Given the description of an element on the screen output the (x, y) to click on. 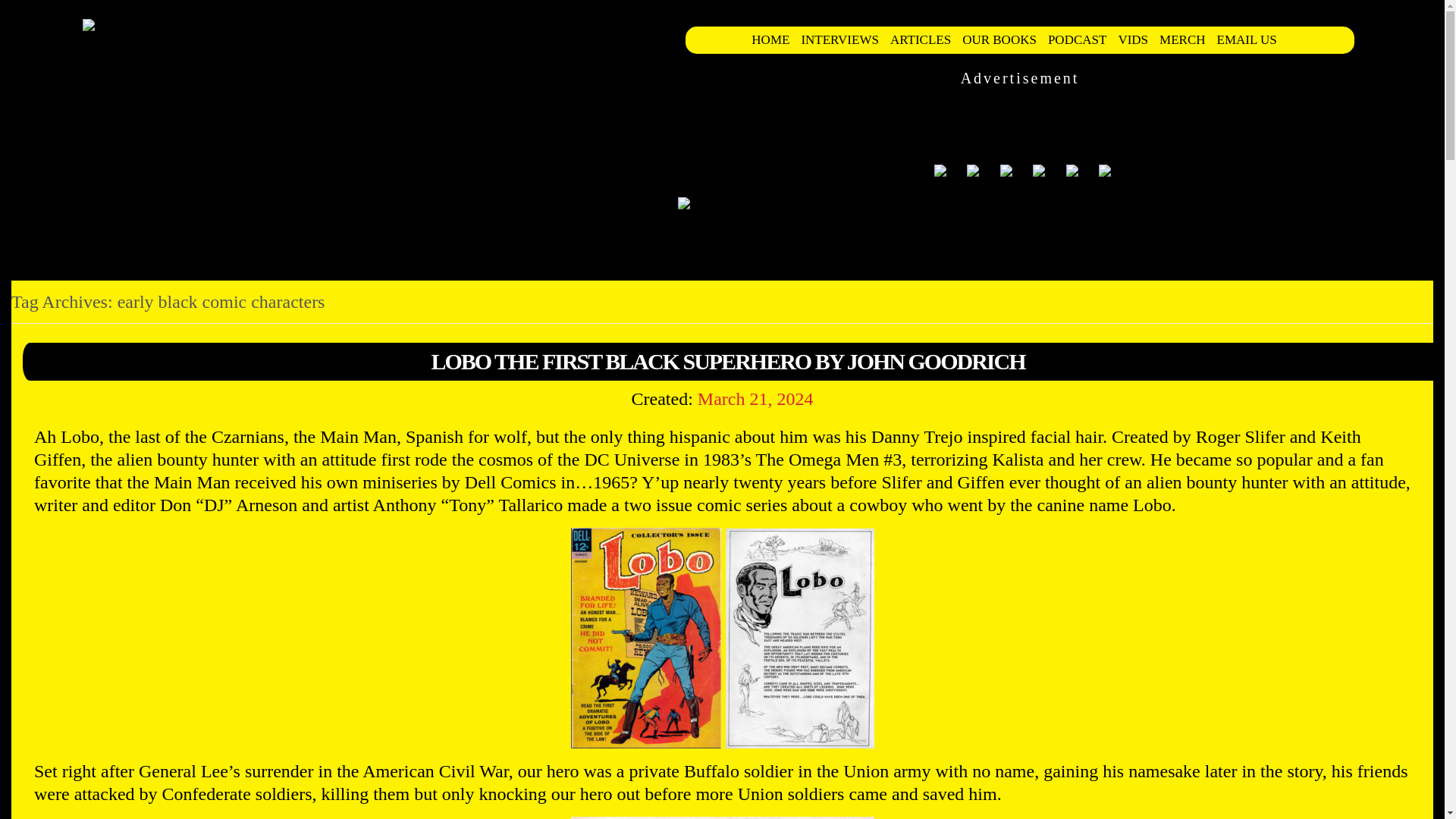
VIDS (1138, 39)
OUR BOOKS (1005, 39)
Advertisement (957, 117)
ARTICLES (925, 39)
MERCH (1186, 39)
PODCAST (1083, 39)
HOME (775, 39)
Lobo the first Black Superhero by John Goodrich (727, 360)
INTERVIEWS (844, 39)
LOBO THE FIRST BLACK SUPERHERO BY JOHN GOODRICH (727, 360)
EMAIL US (1252, 39)
